Given the description of an element on the screen output the (x, y) to click on. 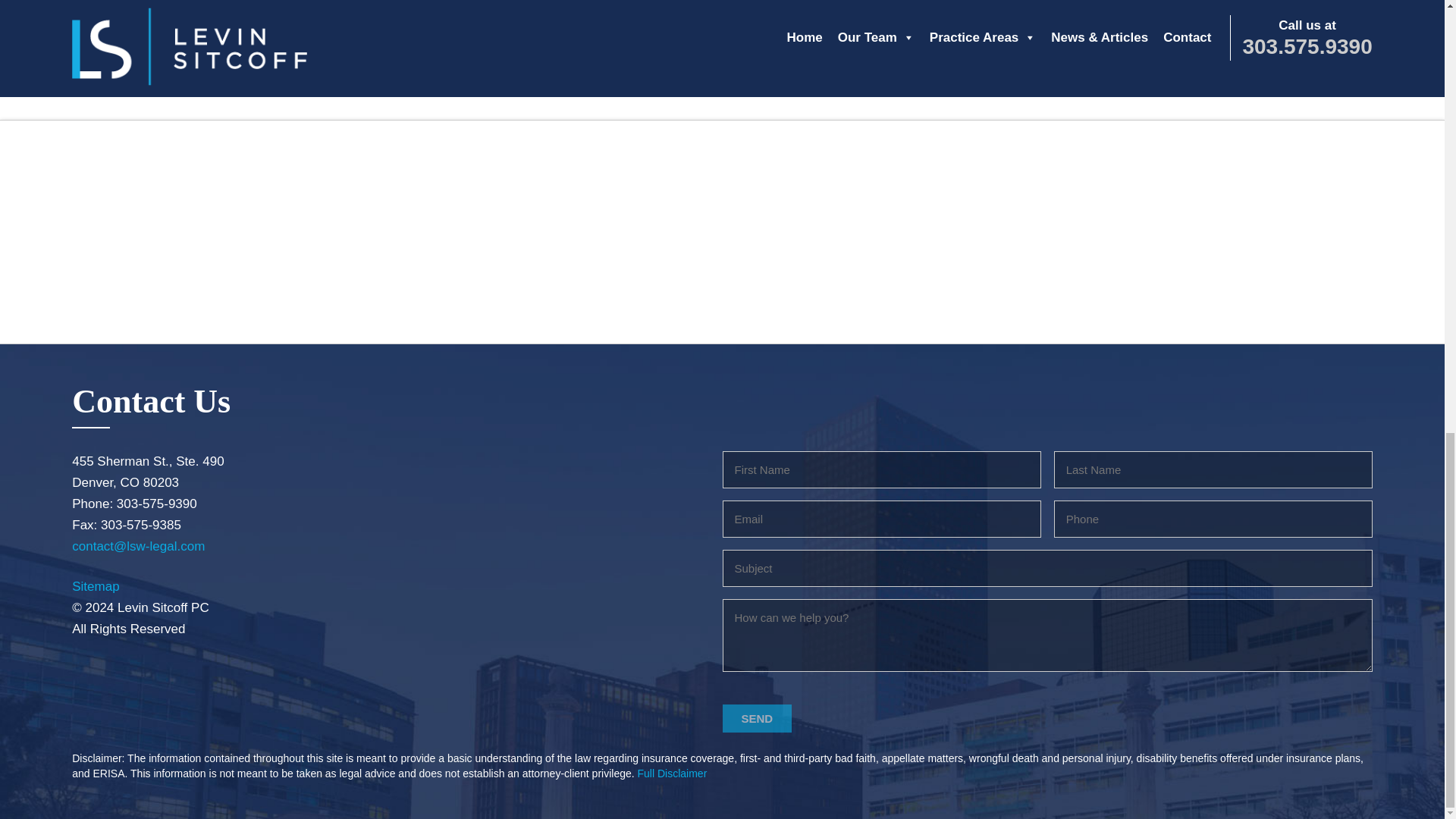
SEND (757, 718)
contact an attorney today (721, 40)
SEND (757, 718)
Sitemap (95, 586)
Full Disclaimer (672, 773)
